Given the description of an element on the screen output the (x, y) to click on. 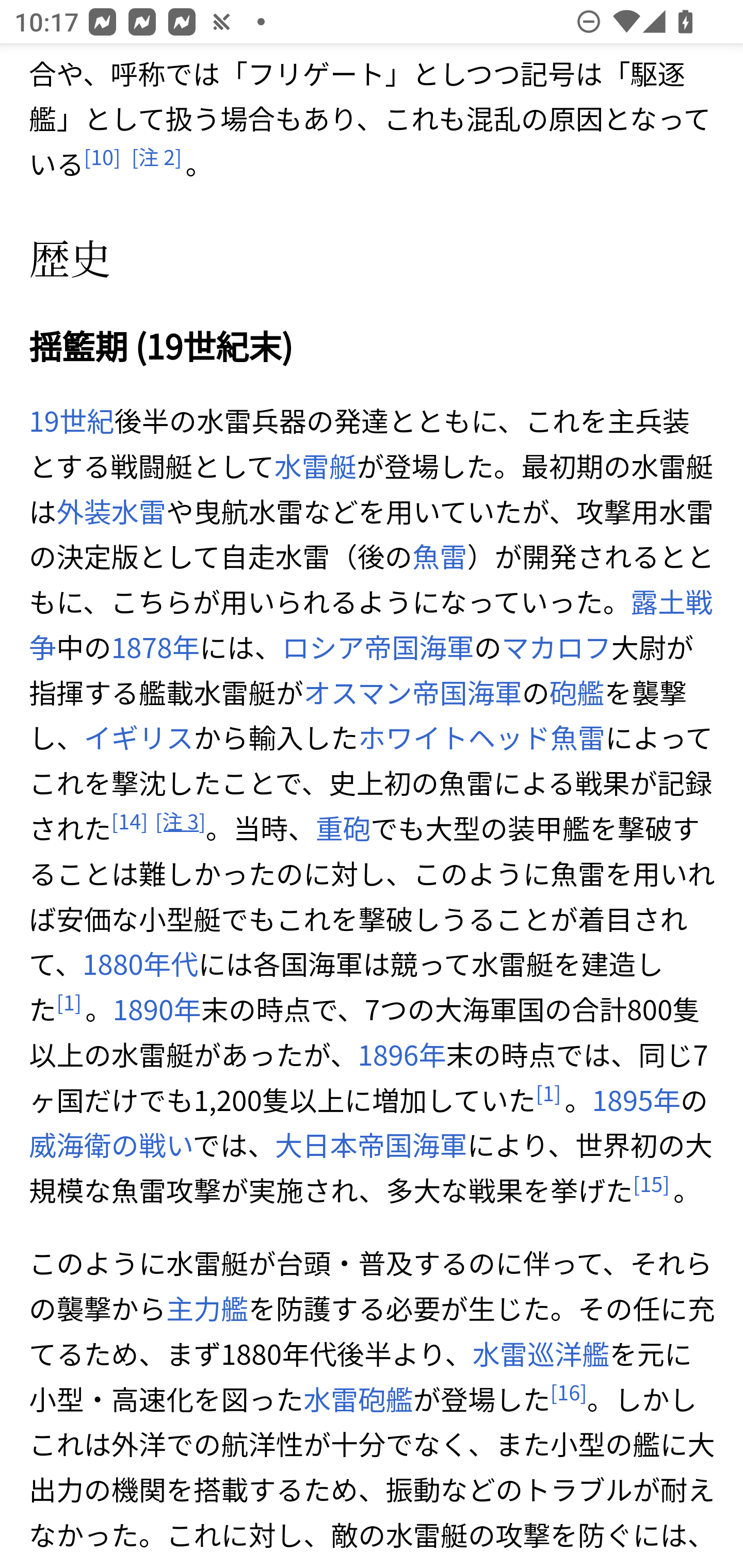
[] [ 10 ] (101, 158)
[注 ] [注  2 ] (156, 158)
19世紀 (71, 421)
水雷艇 (314, 466)
外装水雷 (111, 510)
魚雷 (439, 556)
露土戦争 (370, 624)
1878年 (154, 646)
ロシア帝国海軍 (377, 646)
マカロフ (556, 646)
オスマン帝国海軍 (412, 692)
砲艦 (576, 692)
イギリス (138, 737)
ホワイトヘッド魚雷 (482, 737)
[] [ 14 ] (128, 821)
[注 ] [注  3 ] (180, 821)
重砲 (343, 828)
1880年代 (139, 964)
[] [ 1 ] (69, 1002)
1890年 (157, 1009)
1896年 (402, 1054)
[] [ 1 ] (547, 1093)
1895年 (634, 1099)
威海衛の戦い (110, 1145)
大日本帝国海軍 (370, 1145)
[] [ 15 ] (650, 1183)
主力艦 (206, 1308)
水雷巡洋艦 (540, 1353)
[] [ 16 ] (568, 1392)
水雷砲艦 (357, 1399)
